Given the description of an element on the screen output the (x, y) to click on. 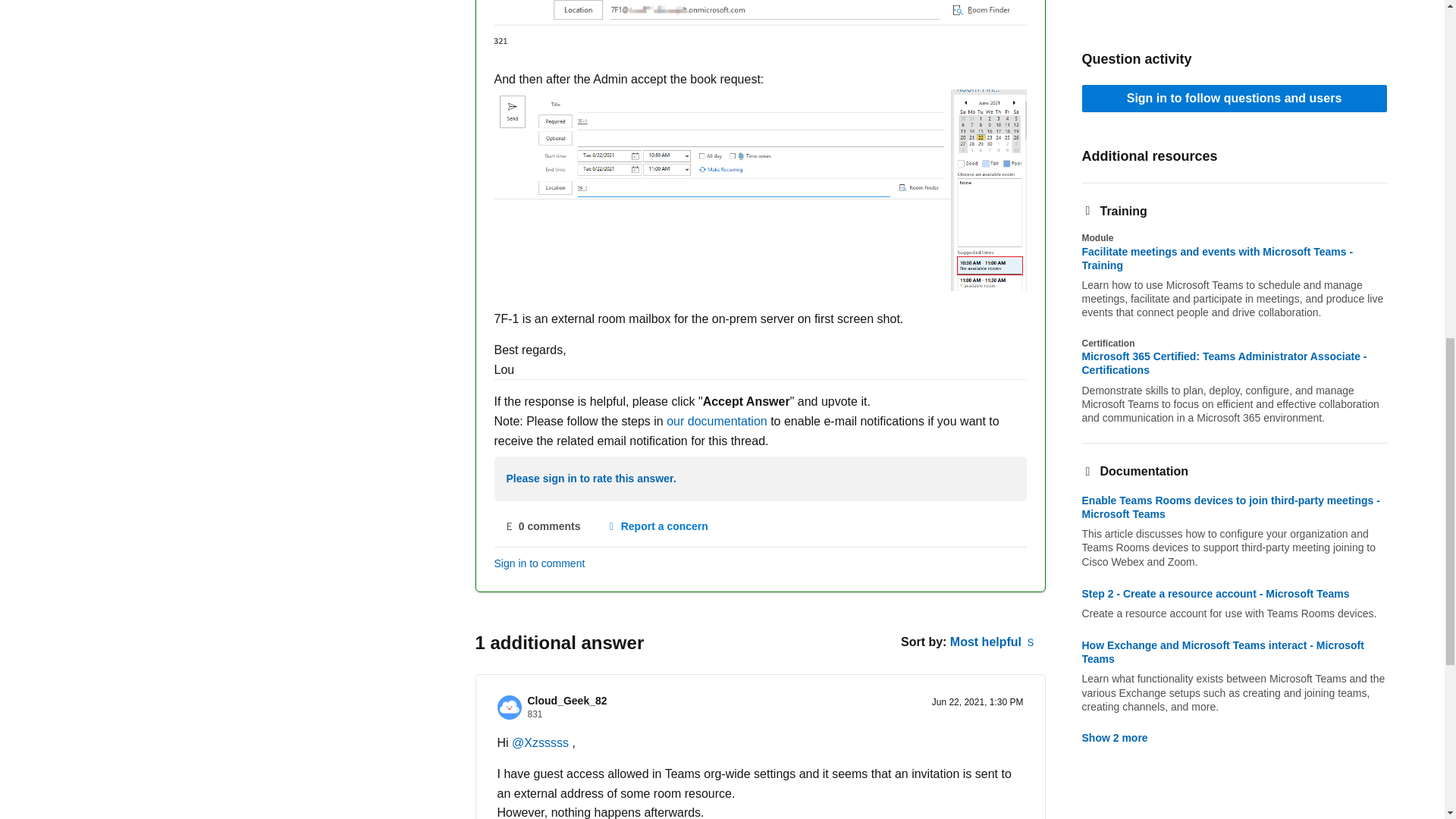
No comments (543, 526)
Report a concern (656, 526)
Reputation points (535, 714)
